Given the description of an element on the screen output the (x, y) to click on. 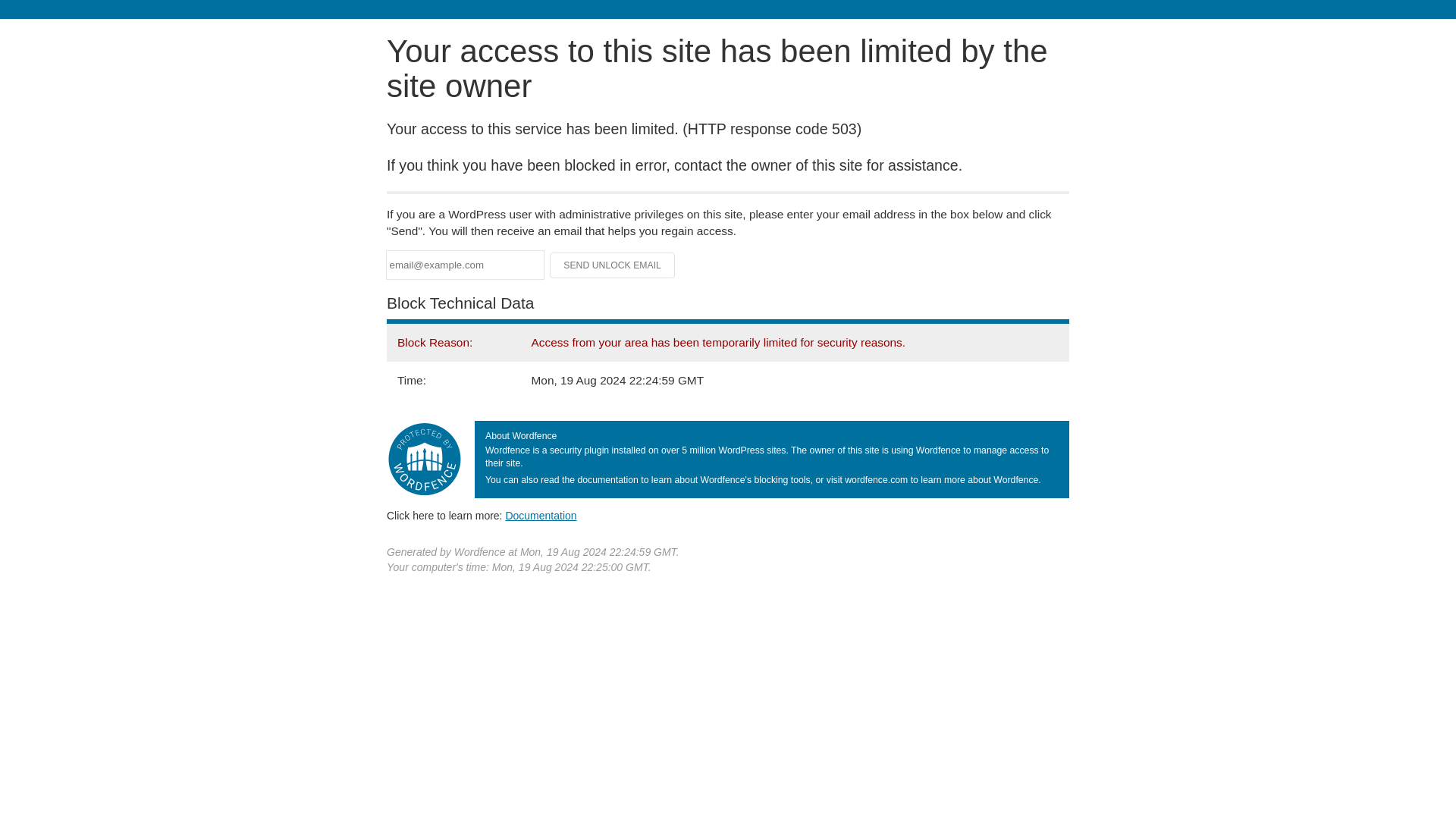
Send Unlock Email (612, 265)
Send Unlock Email (612, 265)
Documentation (540, 515)
